Given the description of an element on the screen output the (x, y) to click on. 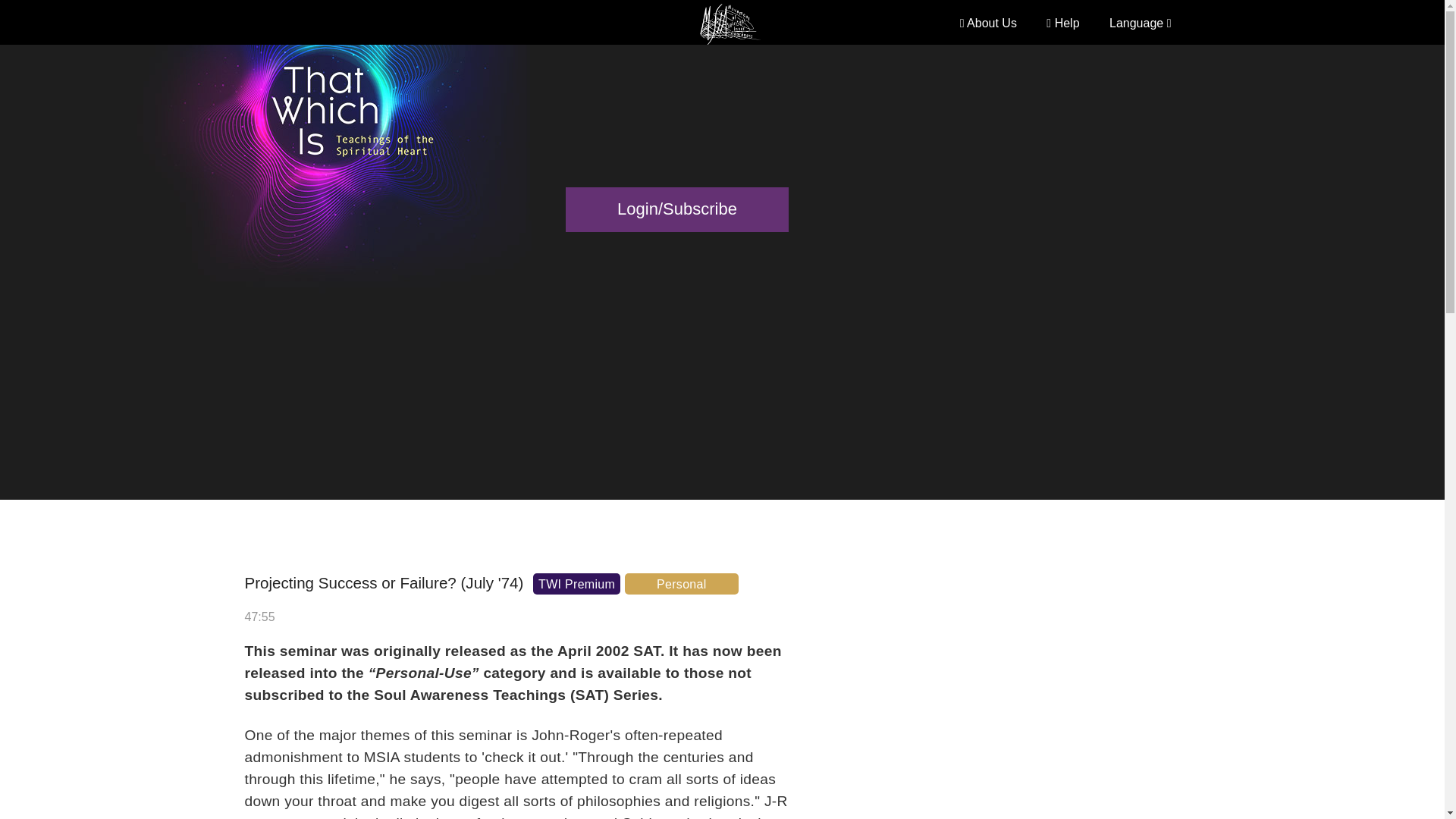
 Help (1062, 22)
 About Us (987, 22)
